Given the description of an element on the screen output the (x, y) to click on. 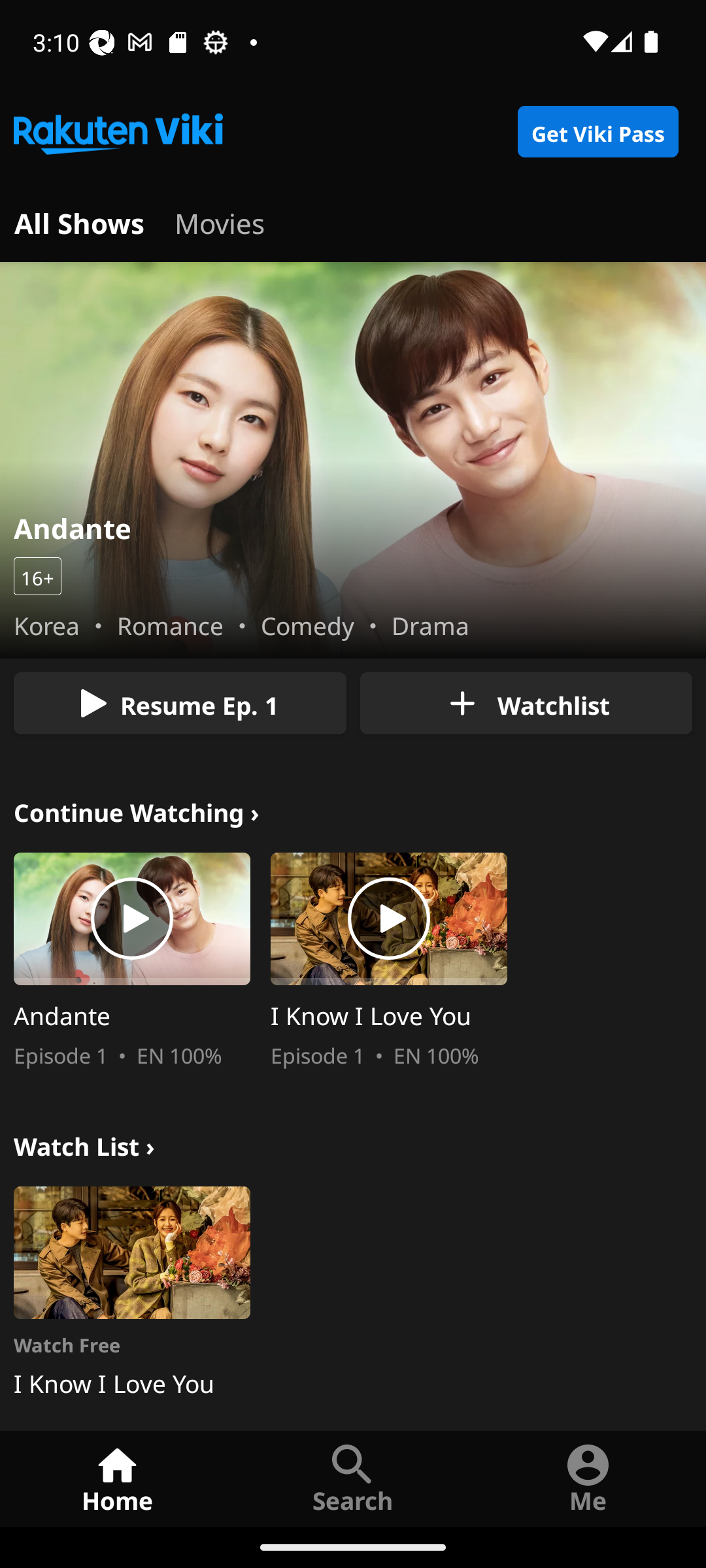
Get Viki Pass (597, 131)
home_tab_movies Movies (219, 220)
Resume Ep. 1 home_billboard_play_button (179, 702)
Watchlist home_billboard_add_to_watchlist_button (526, 702)
Continue Watching › continue_watching (136, 809)
Watch List › watch_list (84, 1143)
Search (352, 1478)
Me (588, 1478)
